Given the description of an element on the screen output the (x, y) to click on. 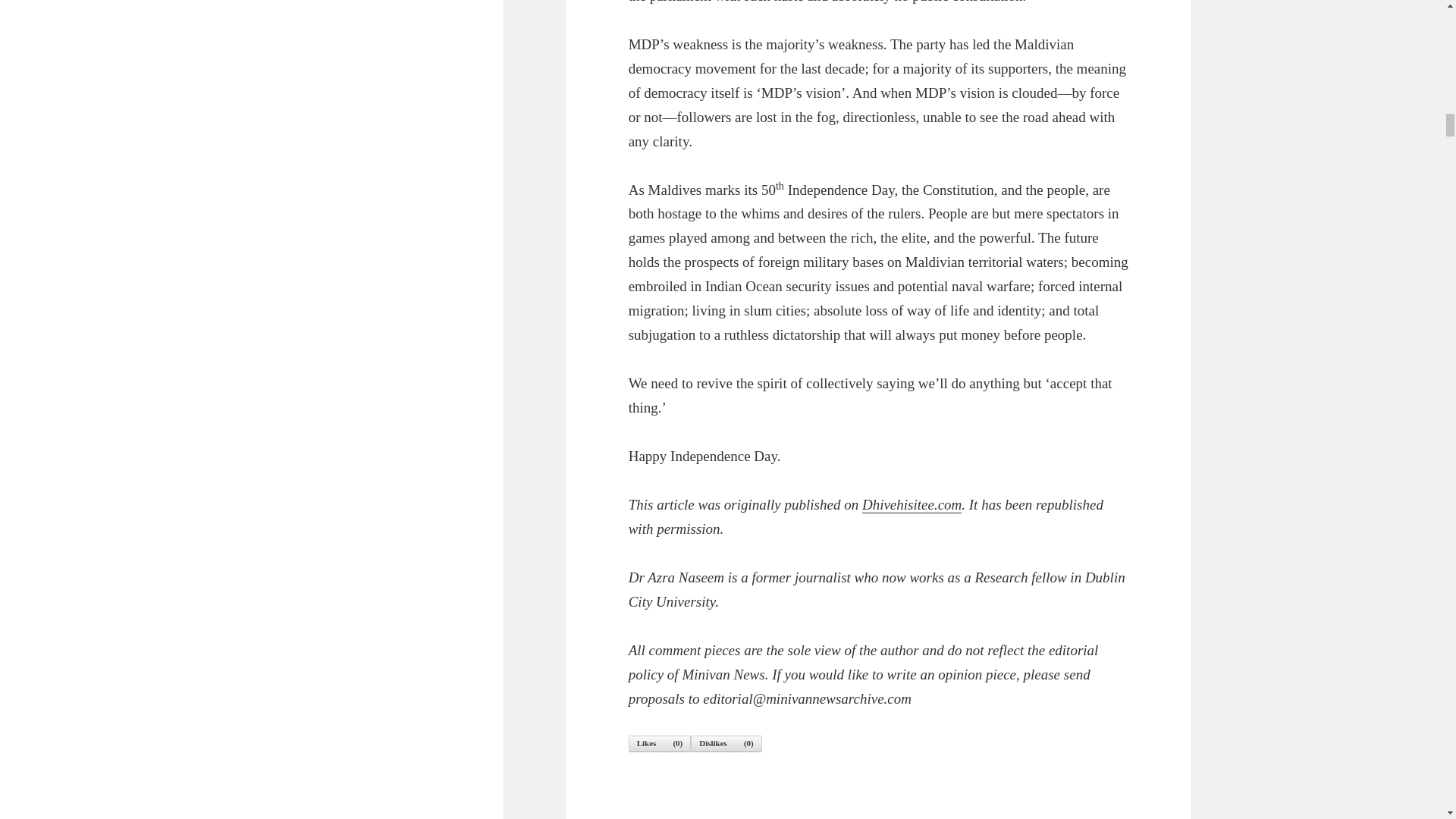
Dhivehisitee.com (910, 504)
